Given the description of an element on the screen output the (x, y) to click on. 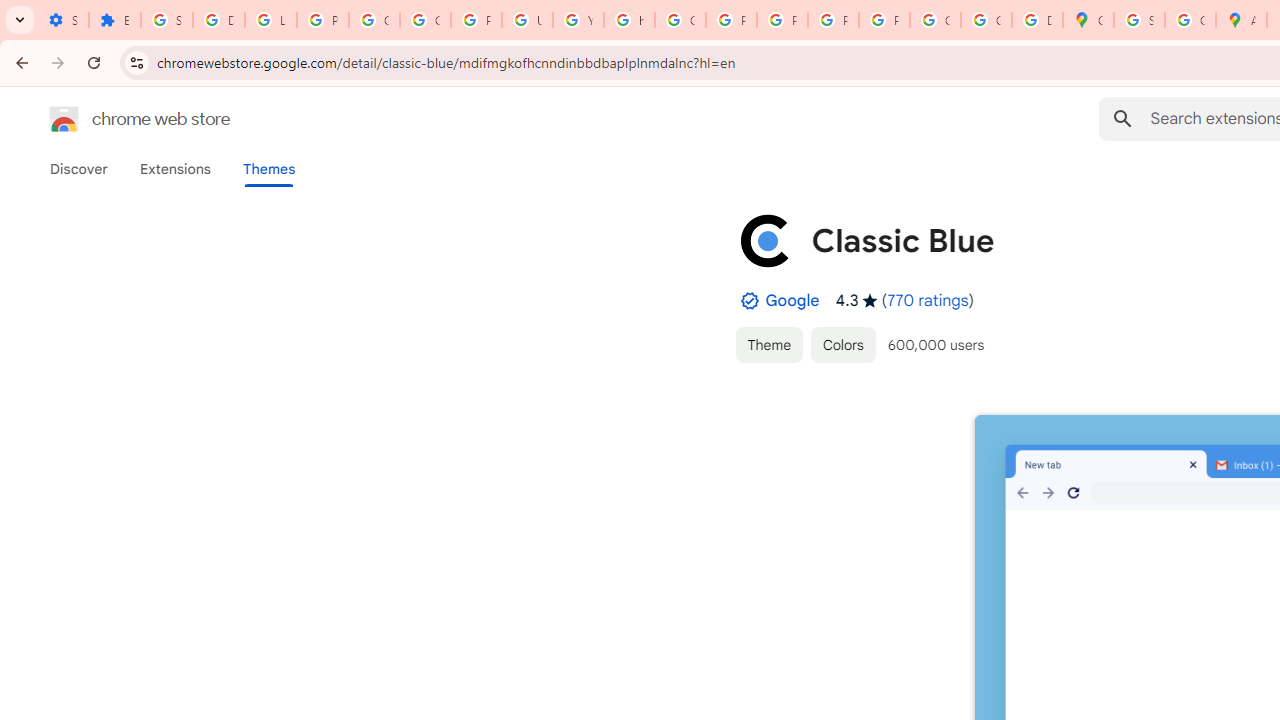
Chrome Web Store logo (63, 118)
770 ratings (927, 300)
YouTube (578, 20)
Google Account Help (374, 20)
Delete photos & videos - Computer - Google Photos Help (218, 20)
Item logo image for Classic Blue (765, 240)
Themes (269, 169)
